Given the description of an element on the screen output the (x, y) to click on. 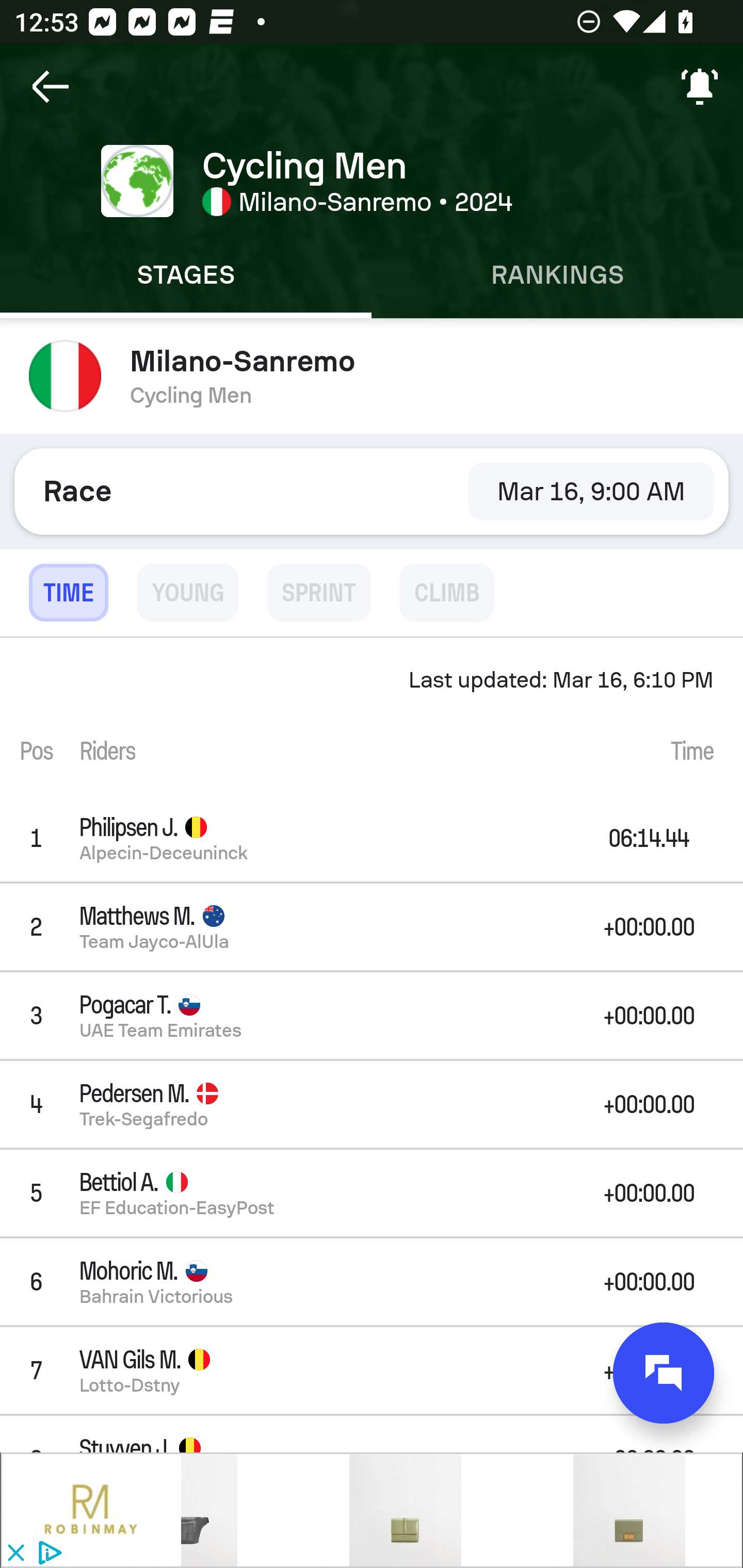
Navigate up (50, 86)
Rankings RANKINGS (557, 275)
Race Mar 16, 9:00 AM (371, 491)
Mar 16, 9:00 AM (591, 491)
TIME (68, 592)
Last updated: Mar 16, 6:10 PM Pos Riders Time (371, 716)
1 Philipsen J. Alpecin-Deceuninck 06:14.44 (371, 837)
2 Matthews M. Team Jayco-AlUla +00:00.00 (371, 926)
3 Pogacar T. UAE Team Emirates +00:00.00 (371, 1015)
4 Pedersen M. Trek-Segafredo +00:00.00 (371, 1104)
5 Bettiol A. EF Education-EasyPost +00:00.00 (371, 1192)
6 Mohoric M. Bahrain Victorious +00:00.00 (371, 1281)
CHAT (663, 1372)
7 VAN Gils M. Lotto-Dstny +00:00.00 (371, 1370)
close_button (14, 1553)
privacy_small (47, 1553)
